Given the description of an element on the screen output the (x, y) to click on. 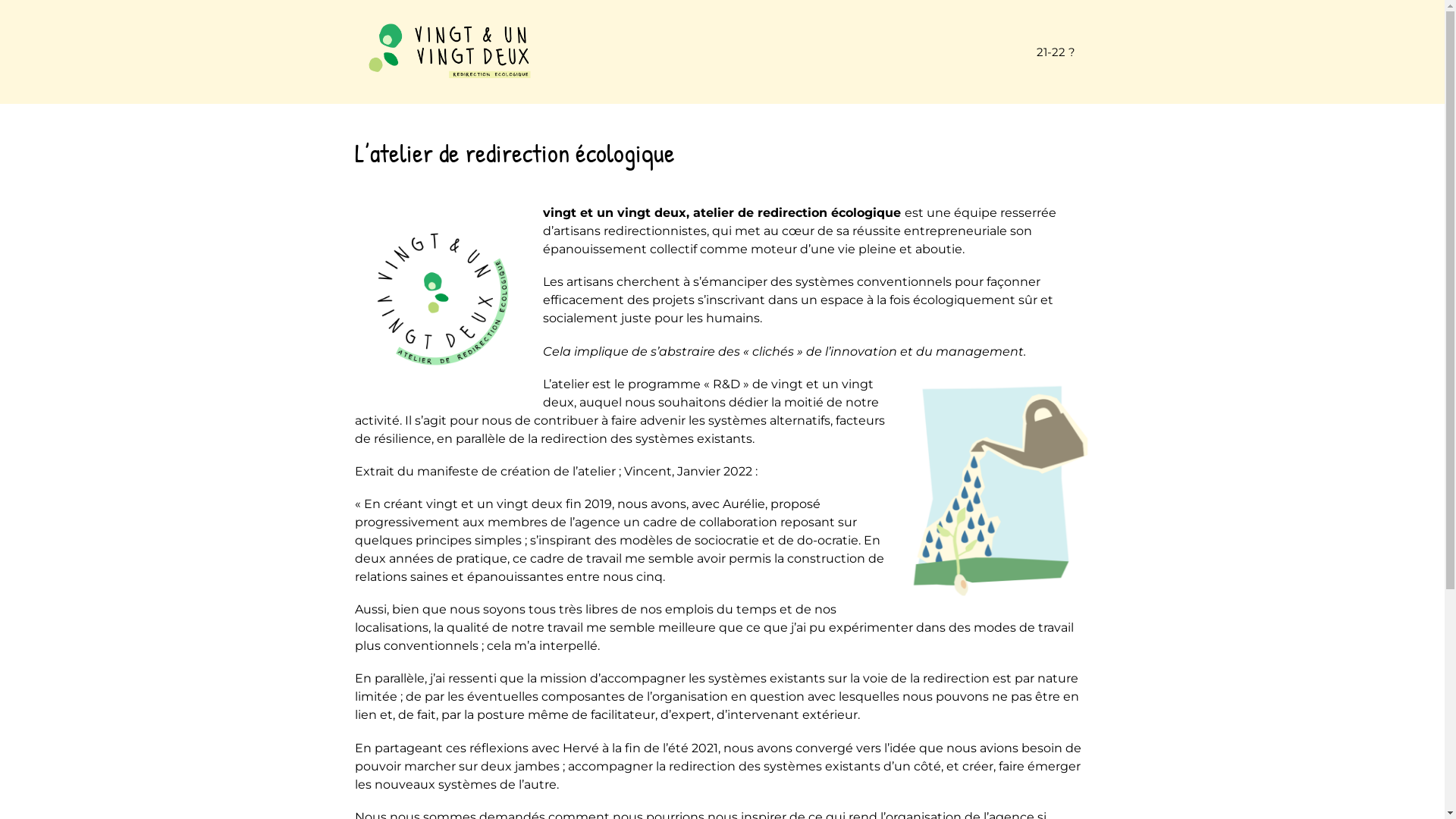
21-22 ? Element type: text (1054, 52)
